Given the description of an element on the screen output the (x, y) to click on. 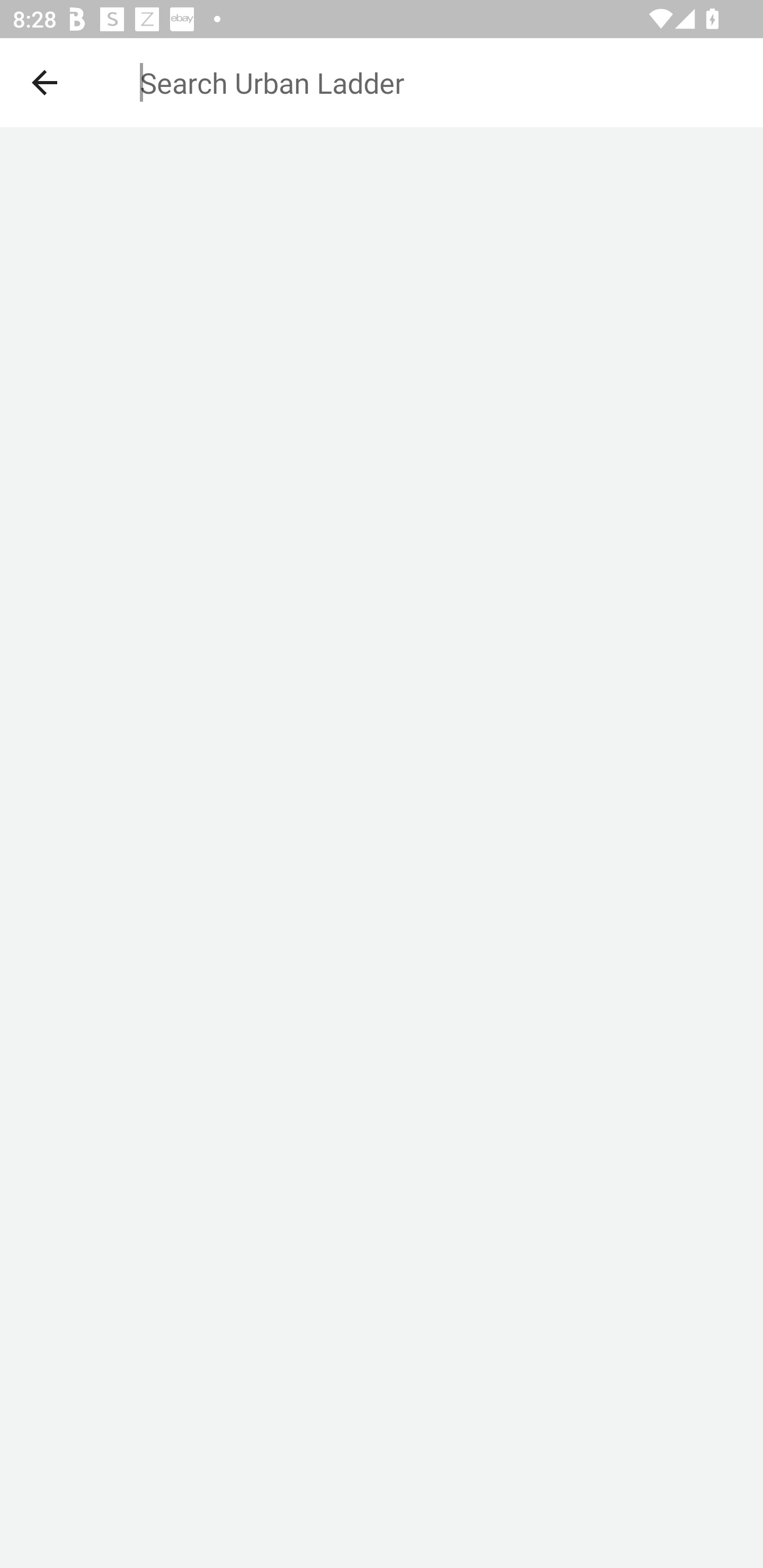
Collapse (44, 82)
Search Urban Ladder (368, 82)
